Given the description of an element on the screen output the (x, y) to click on. 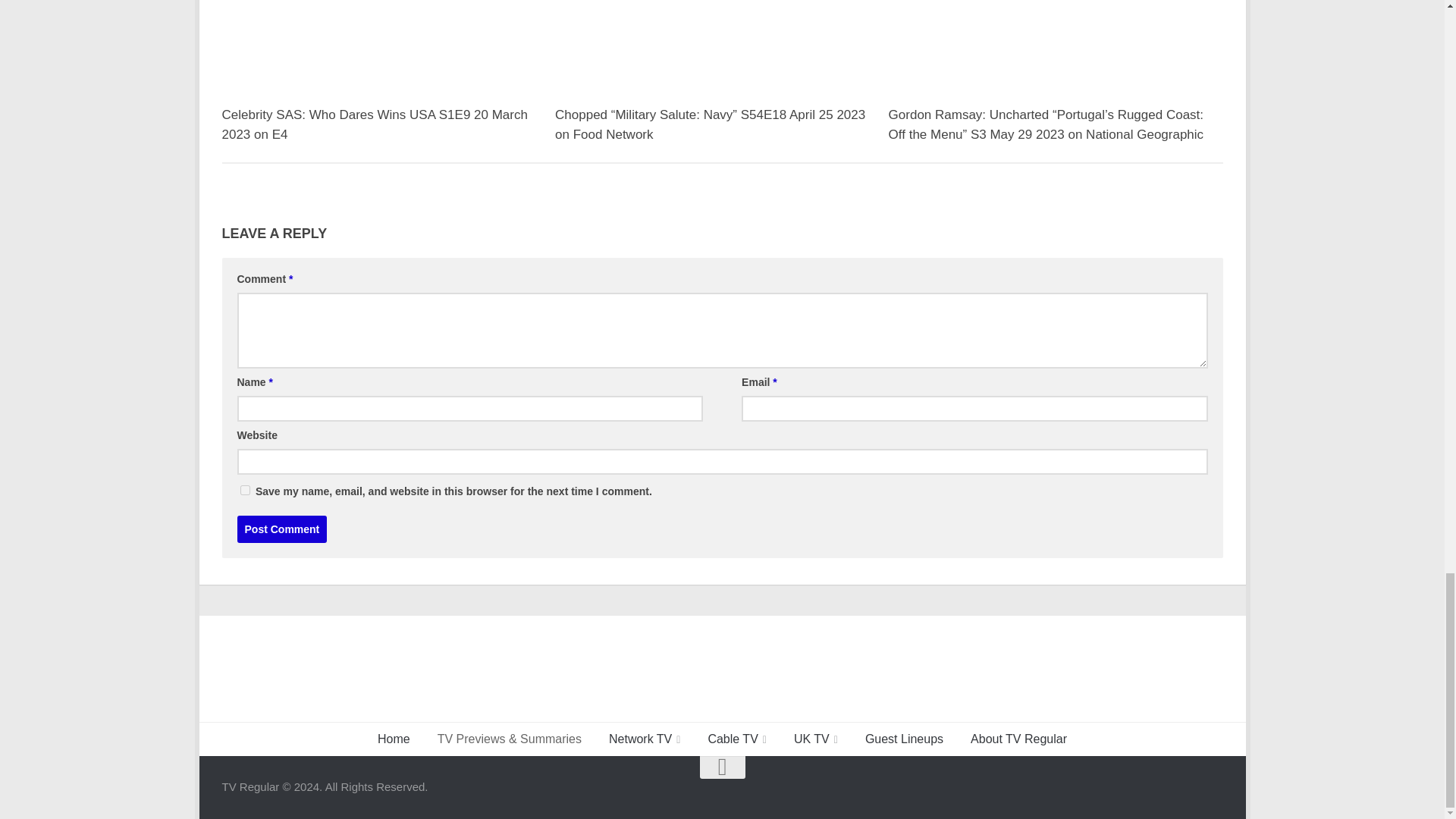
Celebrity SAS: Who Dares Wins USA S1E9 20 March 2023 on E4 1 (387, 83)
Post Comment (280, 528)
yes (244, 490)
